Given the description of an element on the screen output the (x, y) to click on. 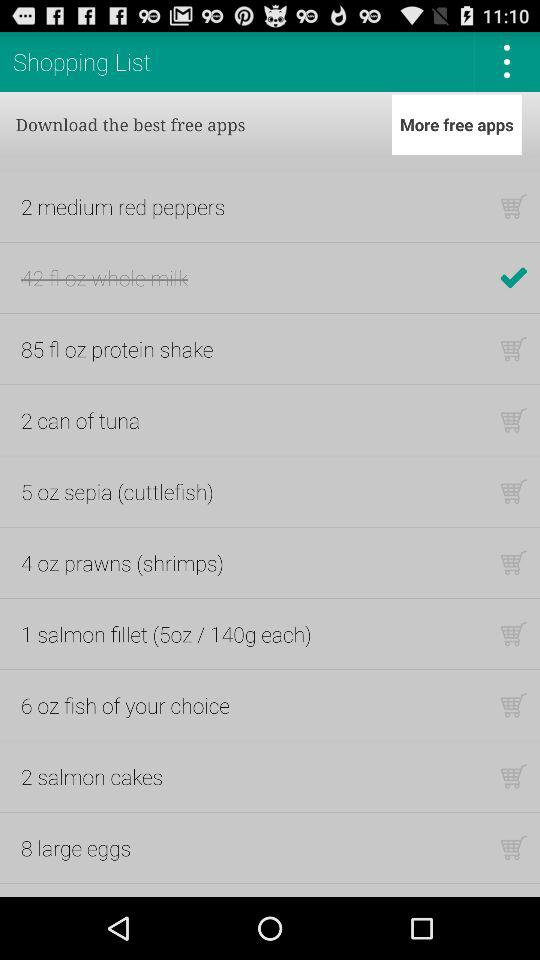
choose the item above 5 oz sepia item (80, 420)
